Given the description of an element on the screen output the (x, y) to click on. 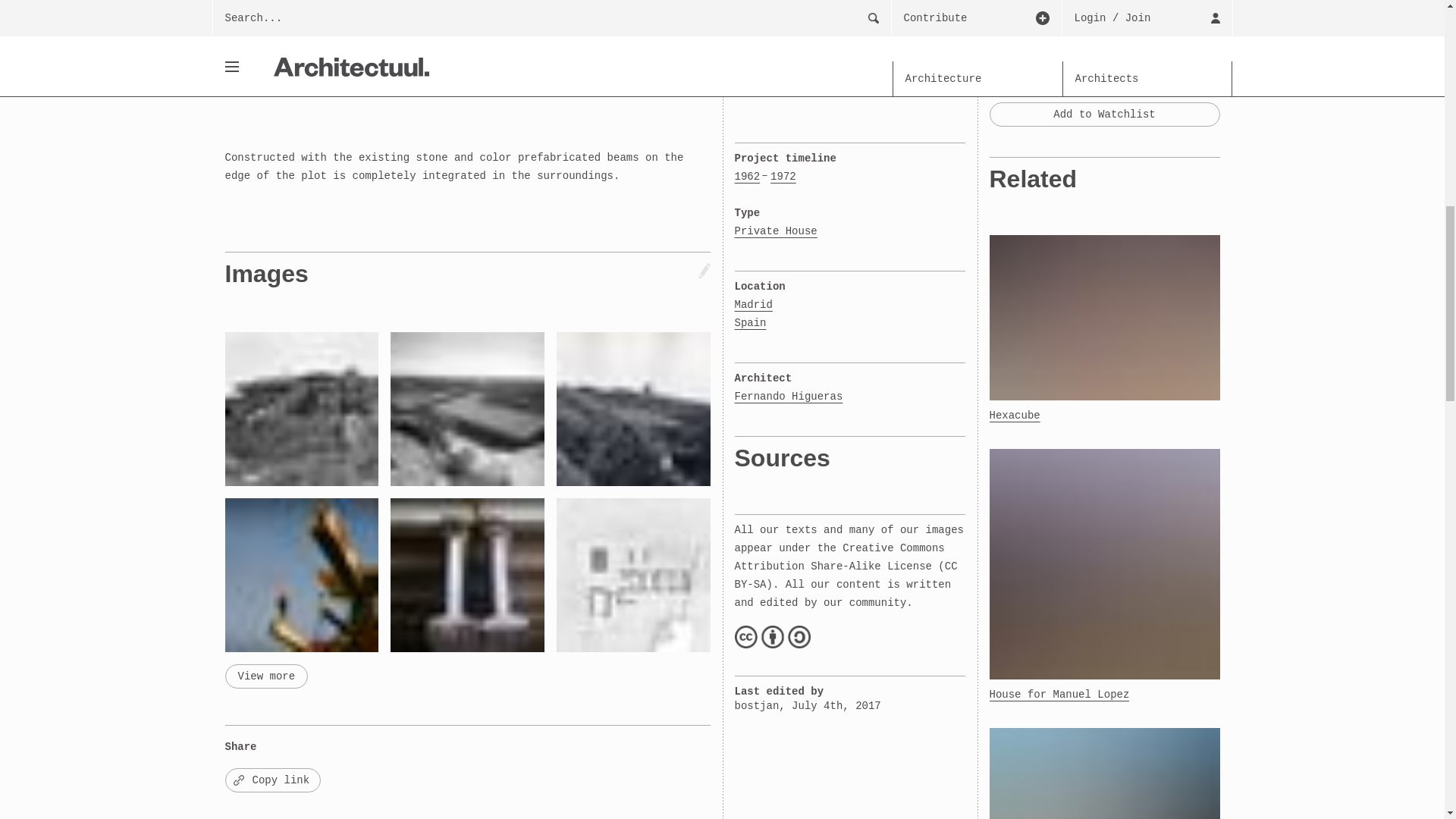
Archive Fernando Higueras Foundation (1080, 20)
1 of 9 (258, 20)
